Given the description of an element on the screen output the (x, y) to click on. 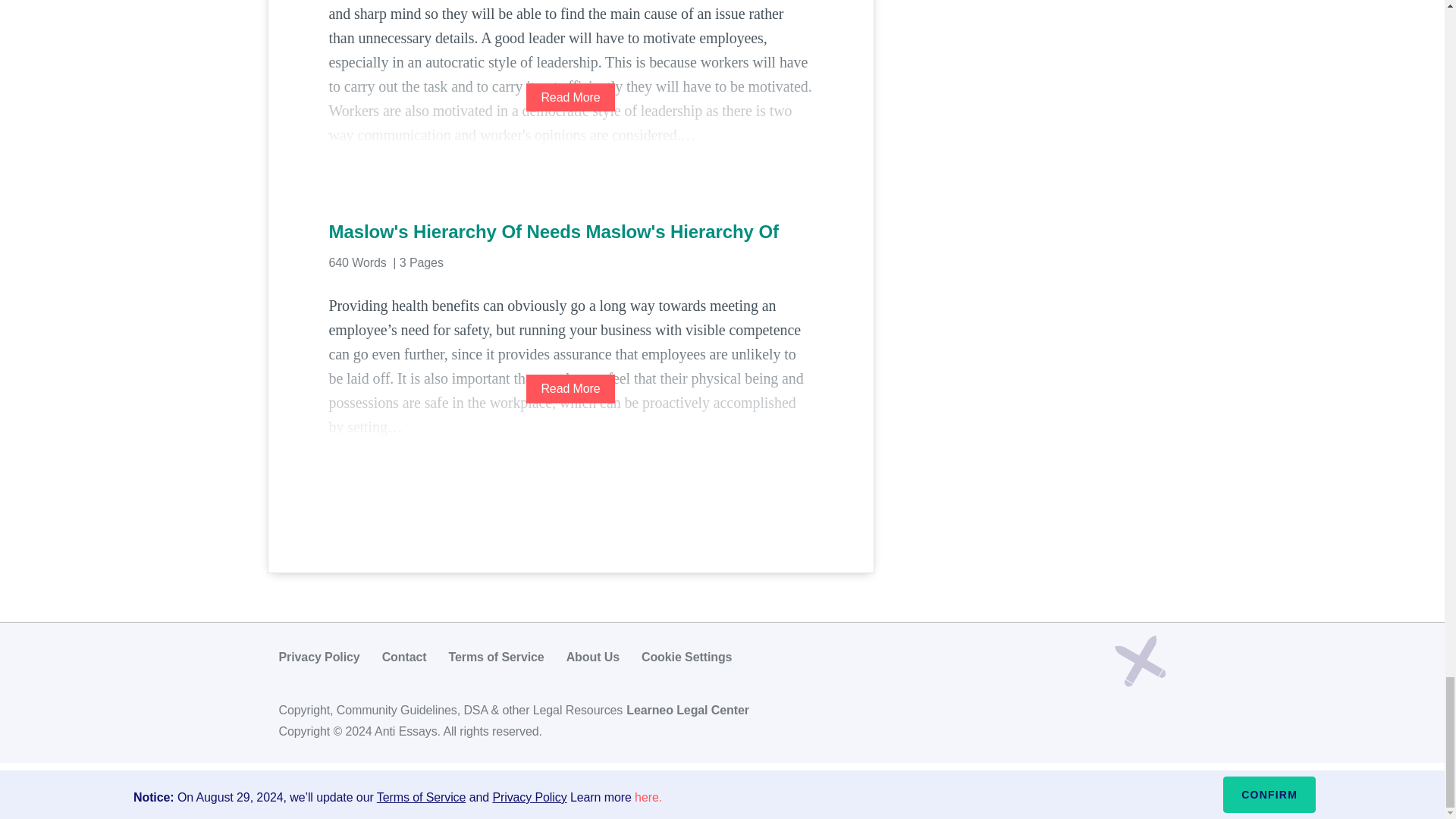
Terms of Service (495, 656)
Read More (569, 388)
Contact (403, 656)
Maslow's Hierarchy Of Needs Maslow's Hierarchy Of (570, 232)
Read More (569, 97)
Privacy Policy (319, 656)
